Given the description of an element on the screen output the (x, y) to click on. 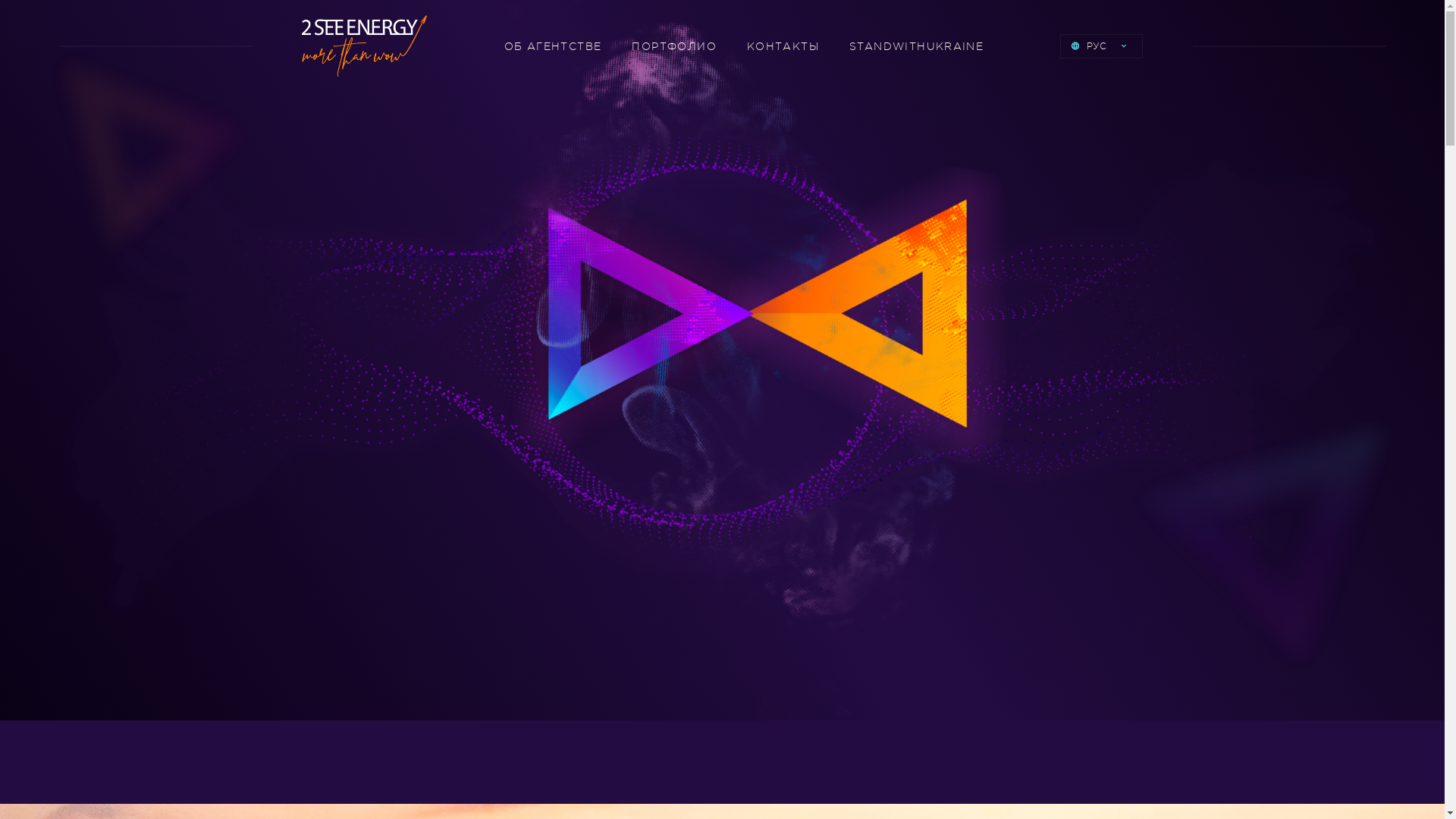
STANDWITHUKRAINE Element type: text (916, 45)
